Given the description of an element on the screen output the (x, y) to click on. 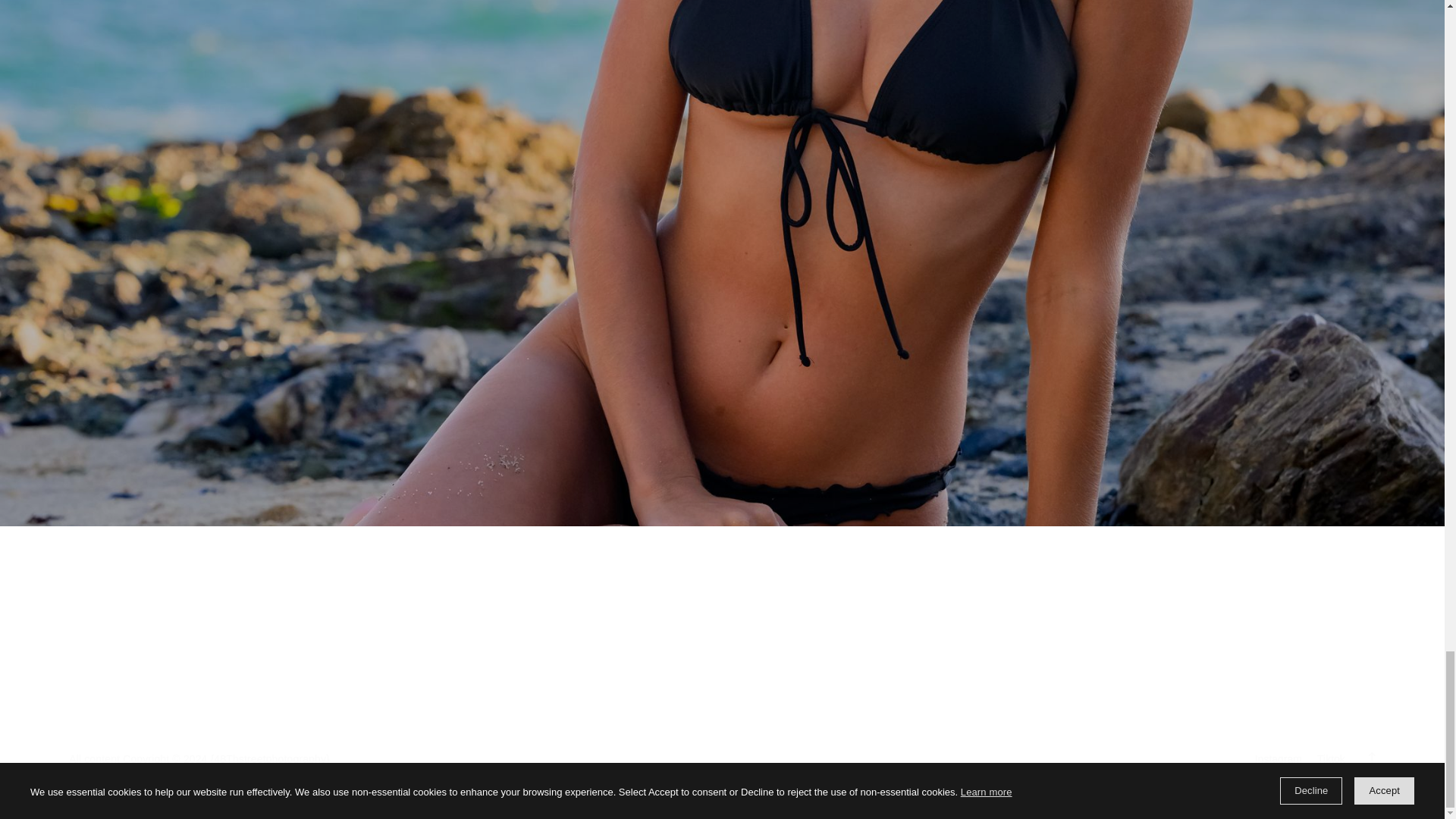
Tiktok (1330, 758)
Contact (114, 236)
Instagram (1277, 758)
